Given the description of an element on the screen output the (x, y) to click on. 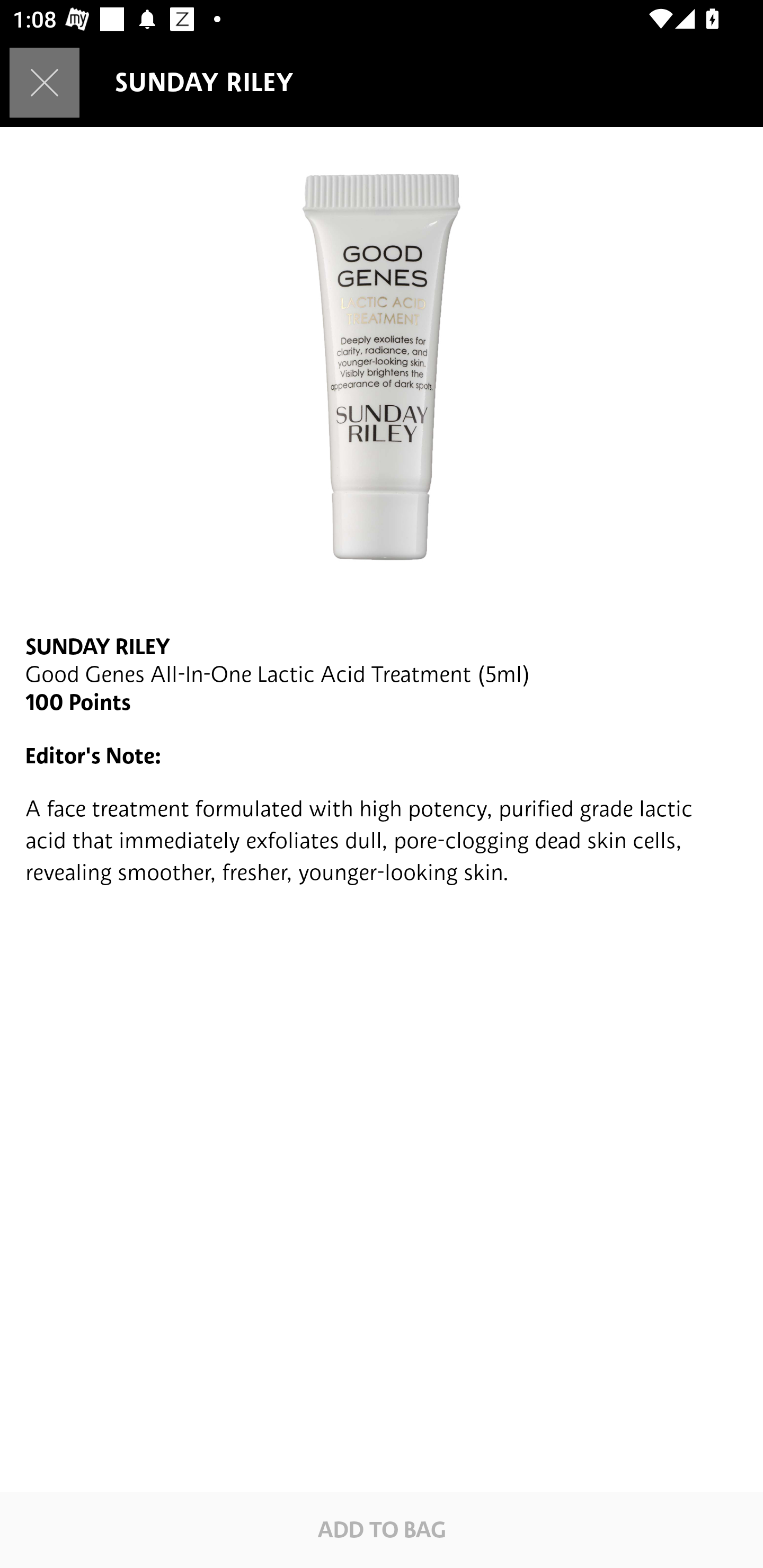
ADD TO BAG (381, 1529)
